Given the description of an element on the screen output the (x, y) to click on. 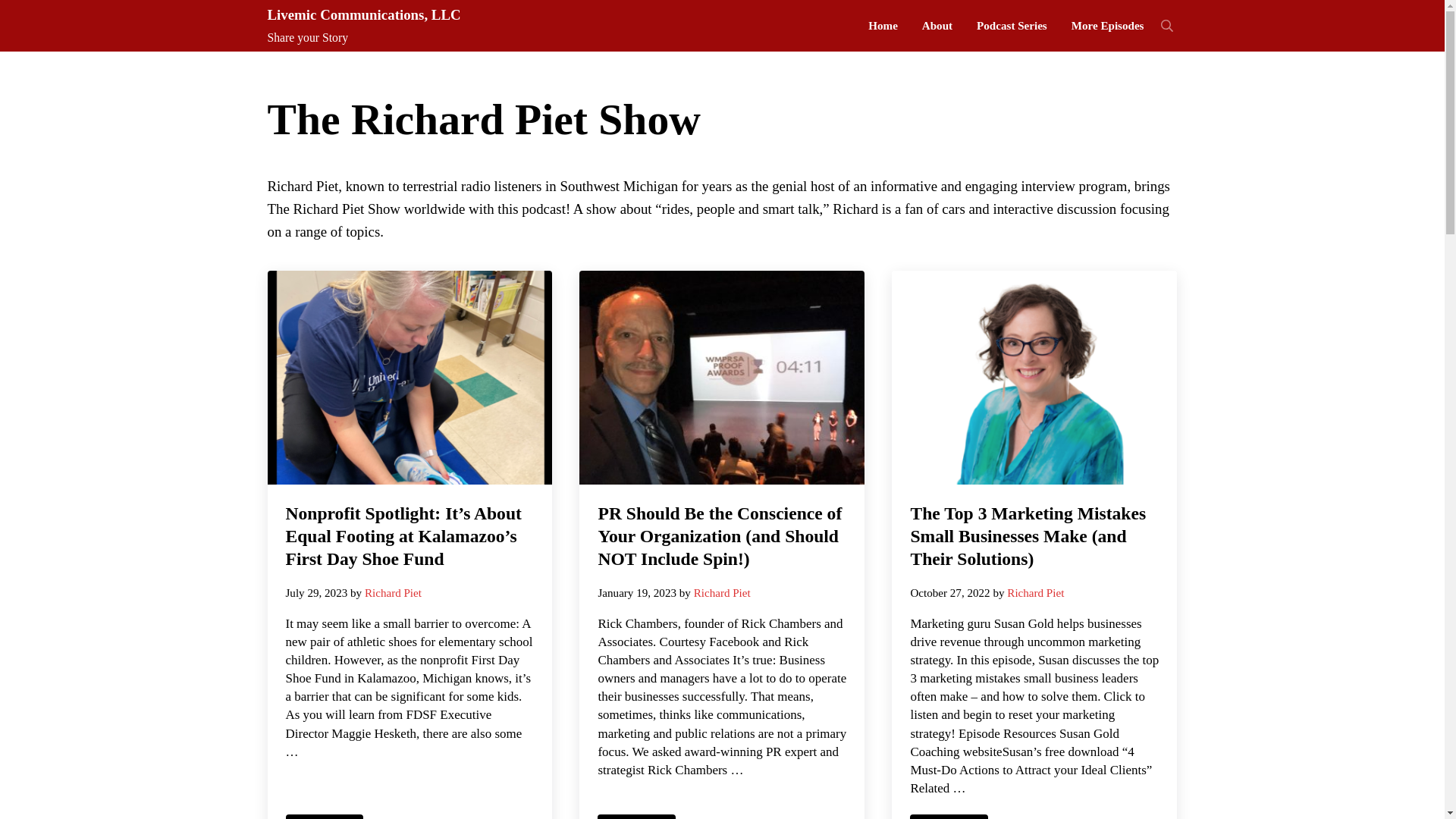
Richard Piet (393, 592)
Home (883, 25)
About (936, 25)
Podcast Series (1011, 25)
Richard Piet (1035, 592)
More Episodes (1107, 25)
Livemic Communications, LLC (363, 14)
Richard Piet (722, 592)
